Given the description of an element on the screen output the (x, y) to click on. 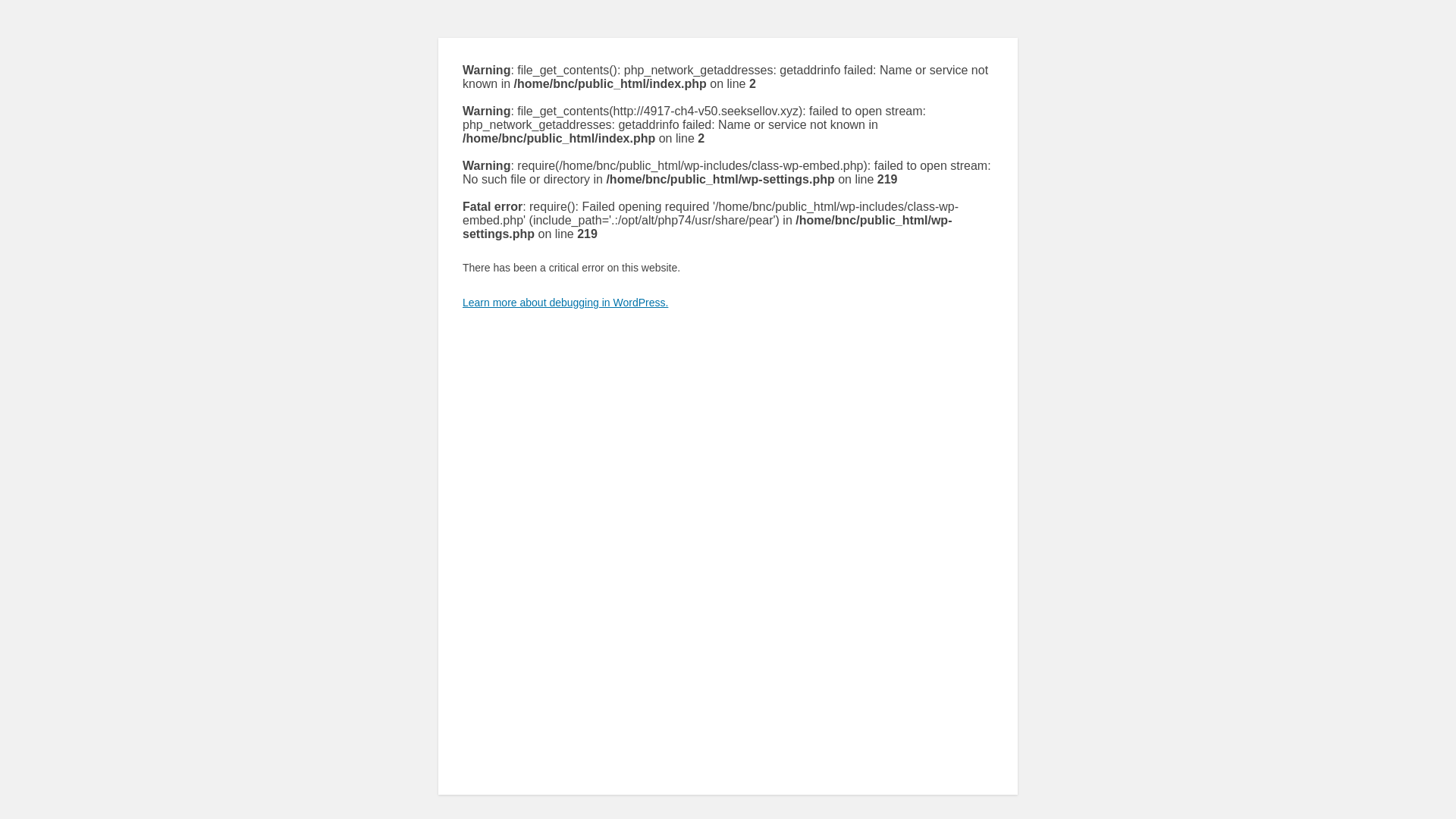
Learn more about debugging in WordPress. Element type: text (565, 302)
